Given the description of an element on the screen output the (x, y) to click on. 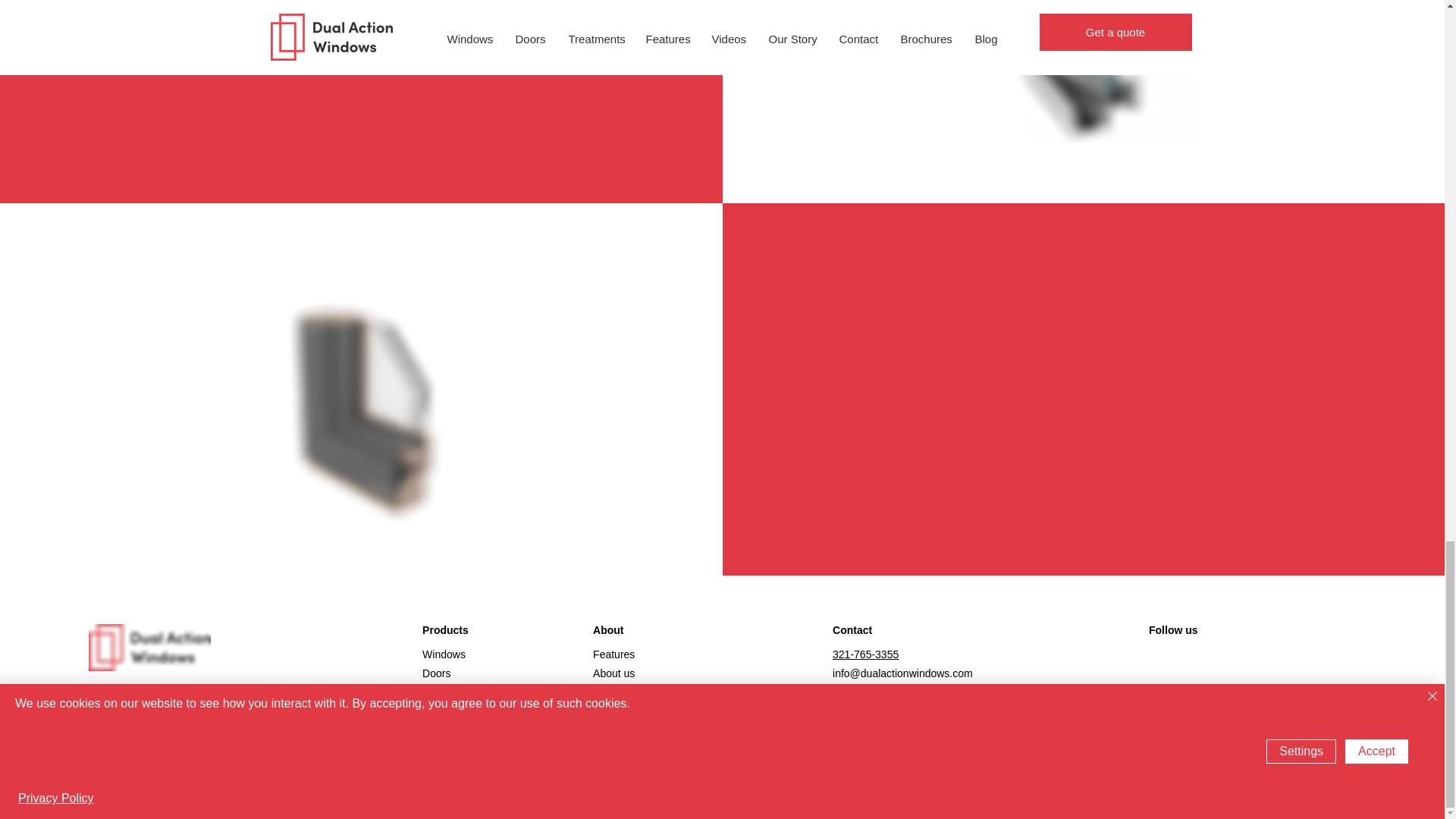
Privacy Policy (120, 711)
321-765-3355 (865, 654)
Features (613, 654)
About us (613, 673)
Blog (603, 711)
Treatments (449, 692)
Windows (443, 654)
Doors (435, 673)
Brochures (617, 730)
Contact (610, 692)
